Given the description of an element on the screen output the (x, y) to click on. 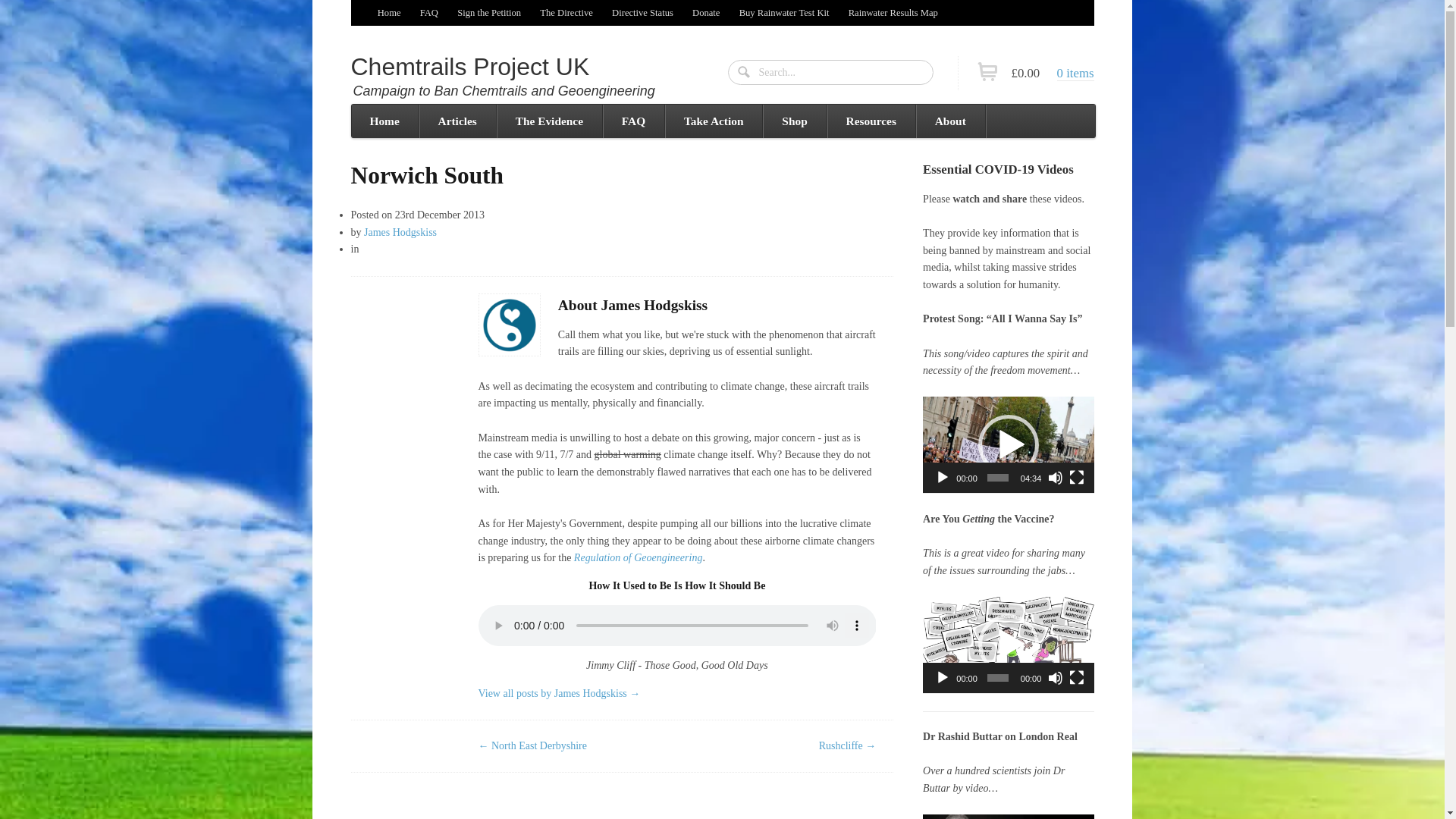
View your shopping cart (1046, 73)
Mute (1055, 677)
Shop (793, 121)
Donate (705, 12)
FAQ (632, 121)
FAQ (428, 12)
Home (389, 12)
Articles (457, 121)
Home (383, 121)
Regulation of Geoengineering (638, 557)
Search (745, 73)
Fullscreen (1076, 677)
The Evidence (549, 121)
Search (745, 73)
Search (745, 73)
